Given the description of an element on the screen output the (x, y) to click on. 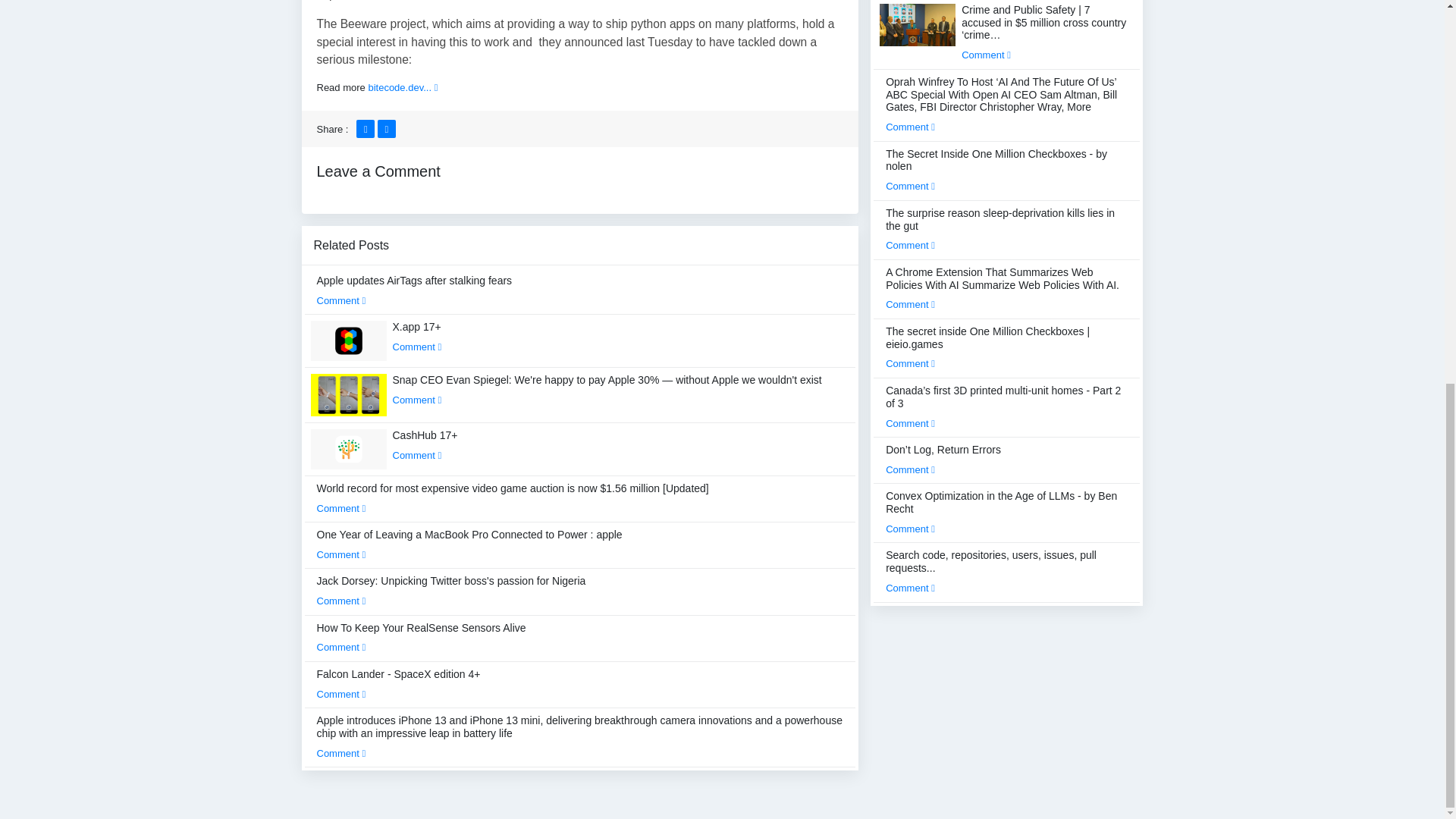
Jack Dorsey: Unpicking Twitter boss's passion for Nigeria (451, 590)
Comment (341, 554)
Comment (417, 399)
Comment (417, 455)
One Year of Leaving a MacBook Pro Connected to Power : apple (470, 544)
Comment (341, 646)
How To Keep Your RealSense Sensors Alive (421, 637)
Comment (341, 507)
bitecode.dev... (403, 87)
Comment (417, 346)
